Given the description of an element on the screen output the (x, y) to click on. 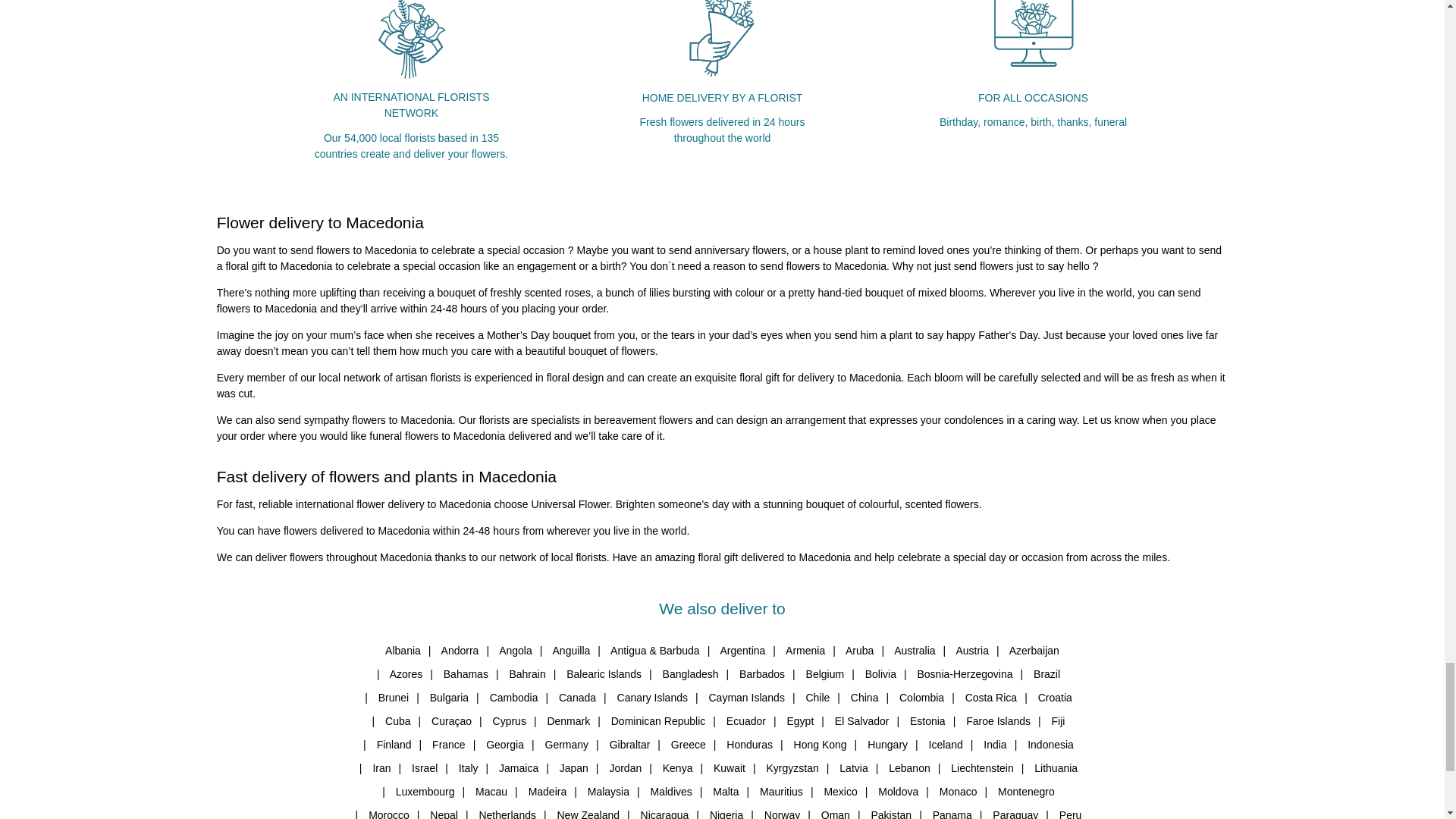
page.universalflower.reinsurance.bloc.1.img.title.text (410, 44)
page.universalflower.reinsurance.bloc.3.img.title.text (1033, 44)
page.universalflower.reinsurance.bloc.2.img.title.text (721, 44)
